Given the description of an element on the screen output the (x, y) to click on. 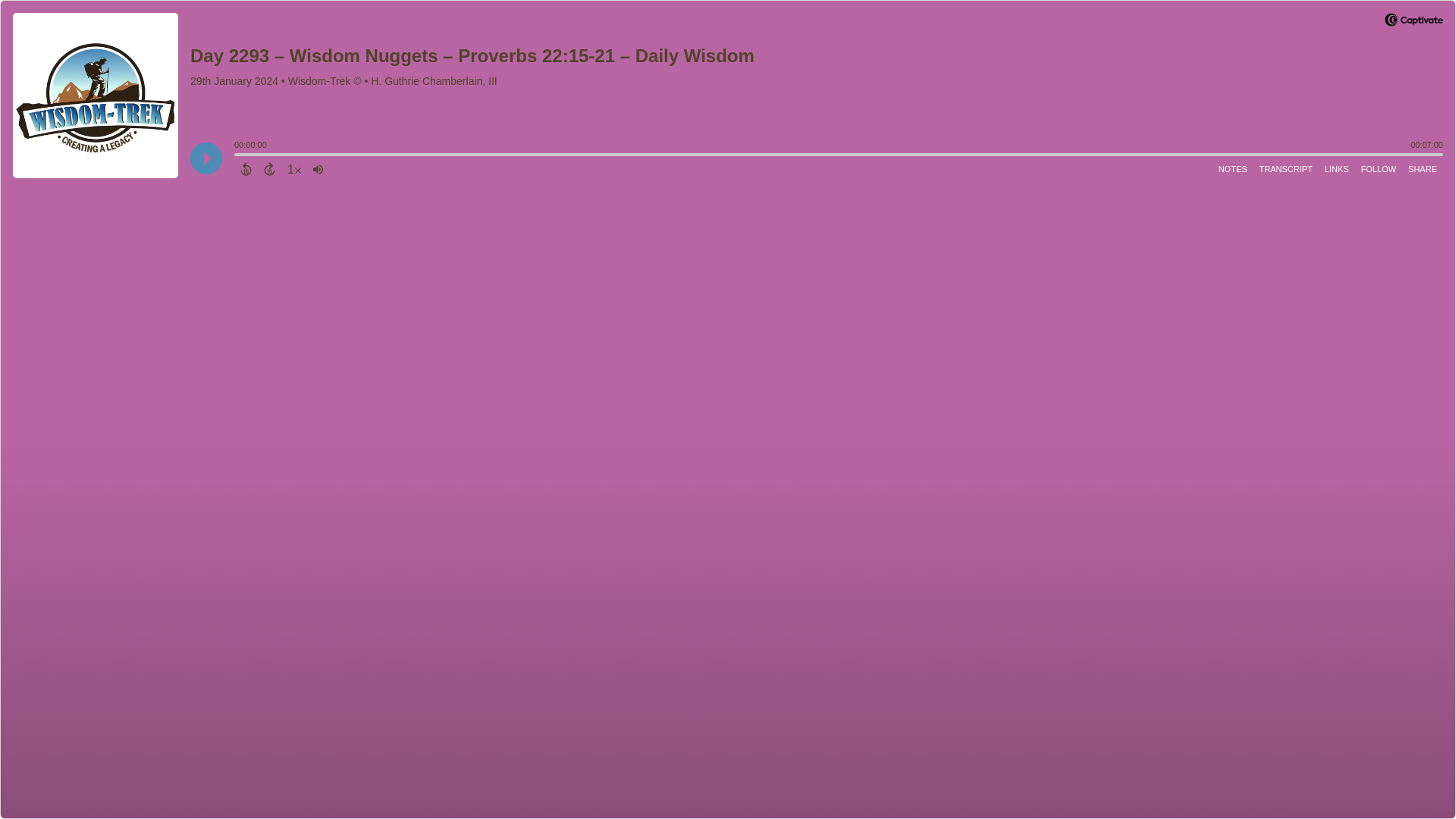
FOLLOW (1378, 168)
TRANSCRIPT (1286, 168)
SHARE (1422, 168)
1 (294, 168)
NOTES (1232, 168)
LINKS (1337, 168)
